Given the description of an element on the screen output the (x, y) to click on. 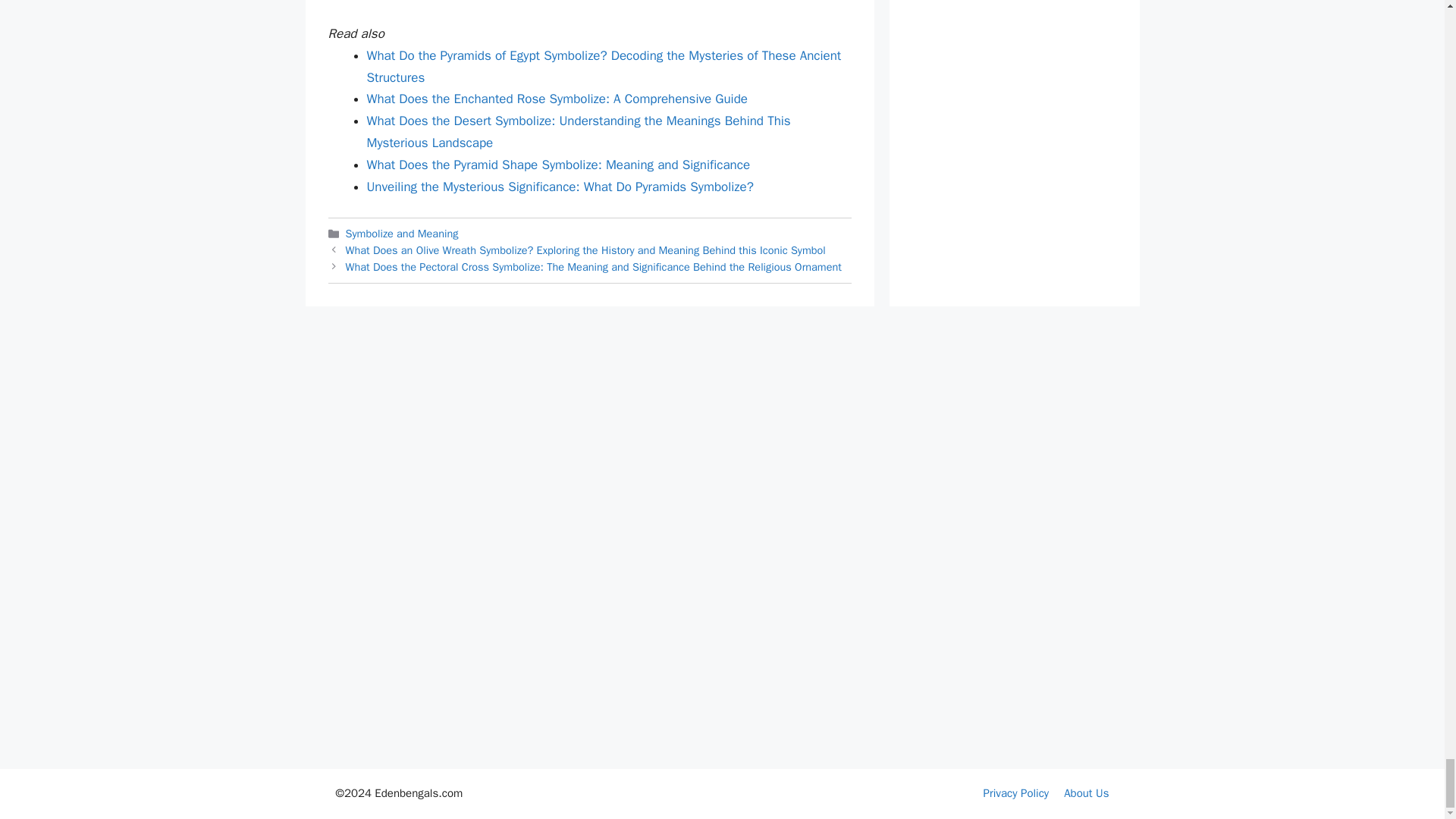
Symbolize and Meaning (402, 233)
About Us (1086, 793)
Privacy Policy (1016, 793)
